Given the description of an element on the screen output the (x, y) to click on. 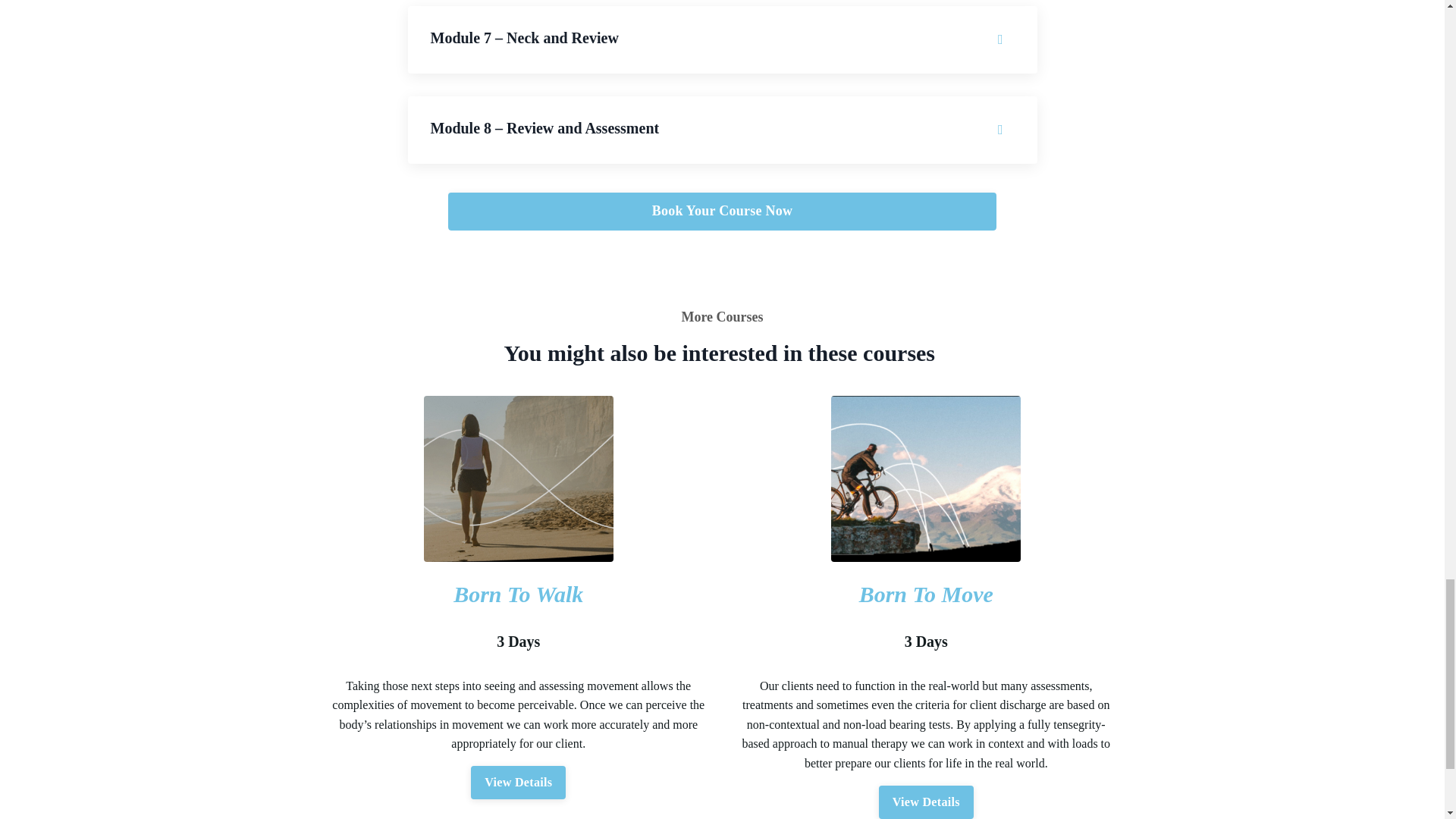
Book Your Course Now (721, 211)
View Details (926, 802)
View Details (518, 782)
